Given the description of an element on the screen output the (x, y) to click on. 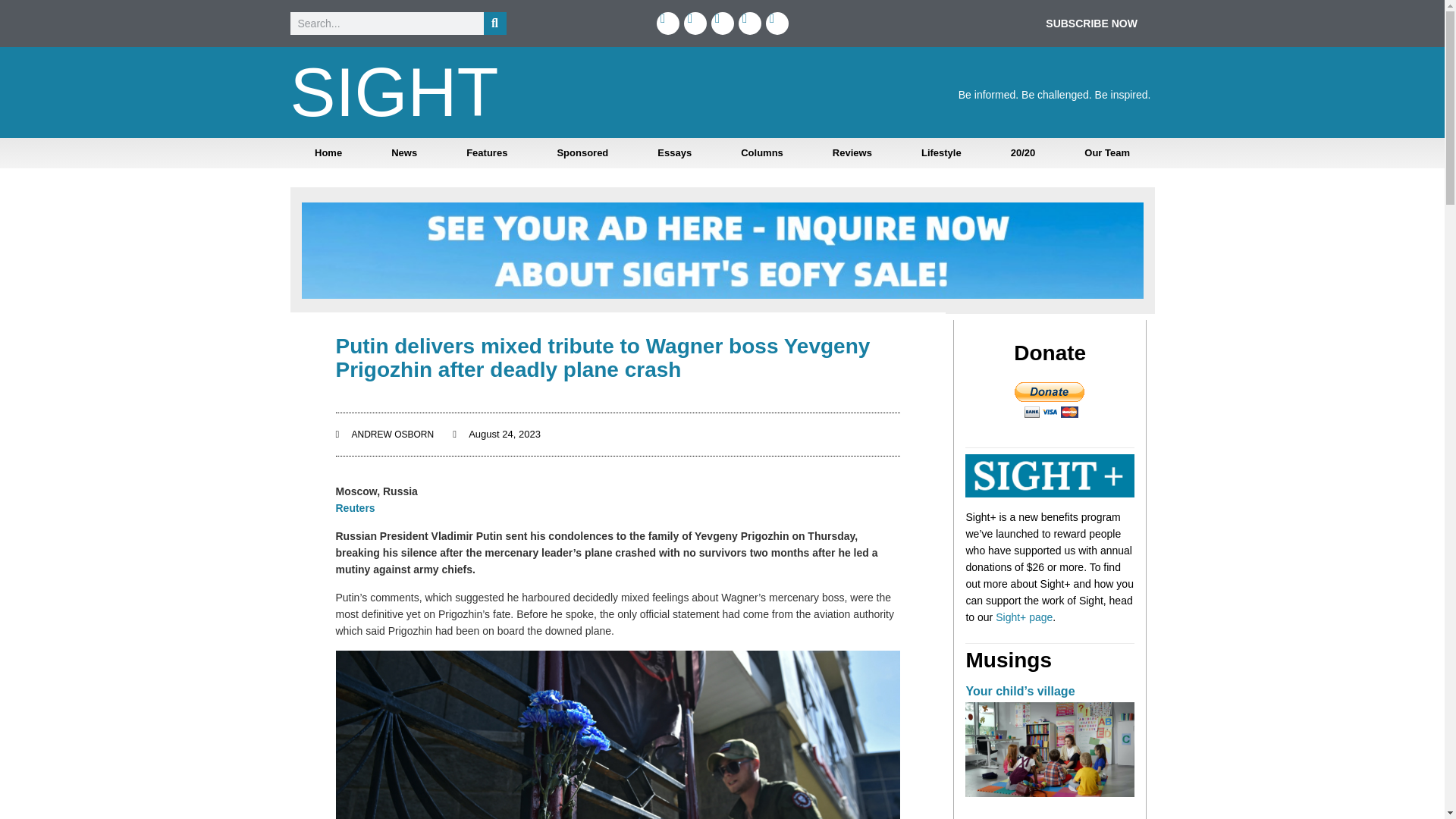
Essays (674, 153)
Features (487, 153)
News (404, 153)
SUBSCRIBE NOW (1091, 23)
SIGHT (393, 92)
Lifestyle (940, 153)
PayPal - The safer, easier way to pay online! (1049, 399)
Columns (762, 153)
Sponsored (582, 153)
Reviews (852, 153)
Home (327, 153)
